Given the description of an element on the screen output the (x, y) to click on. 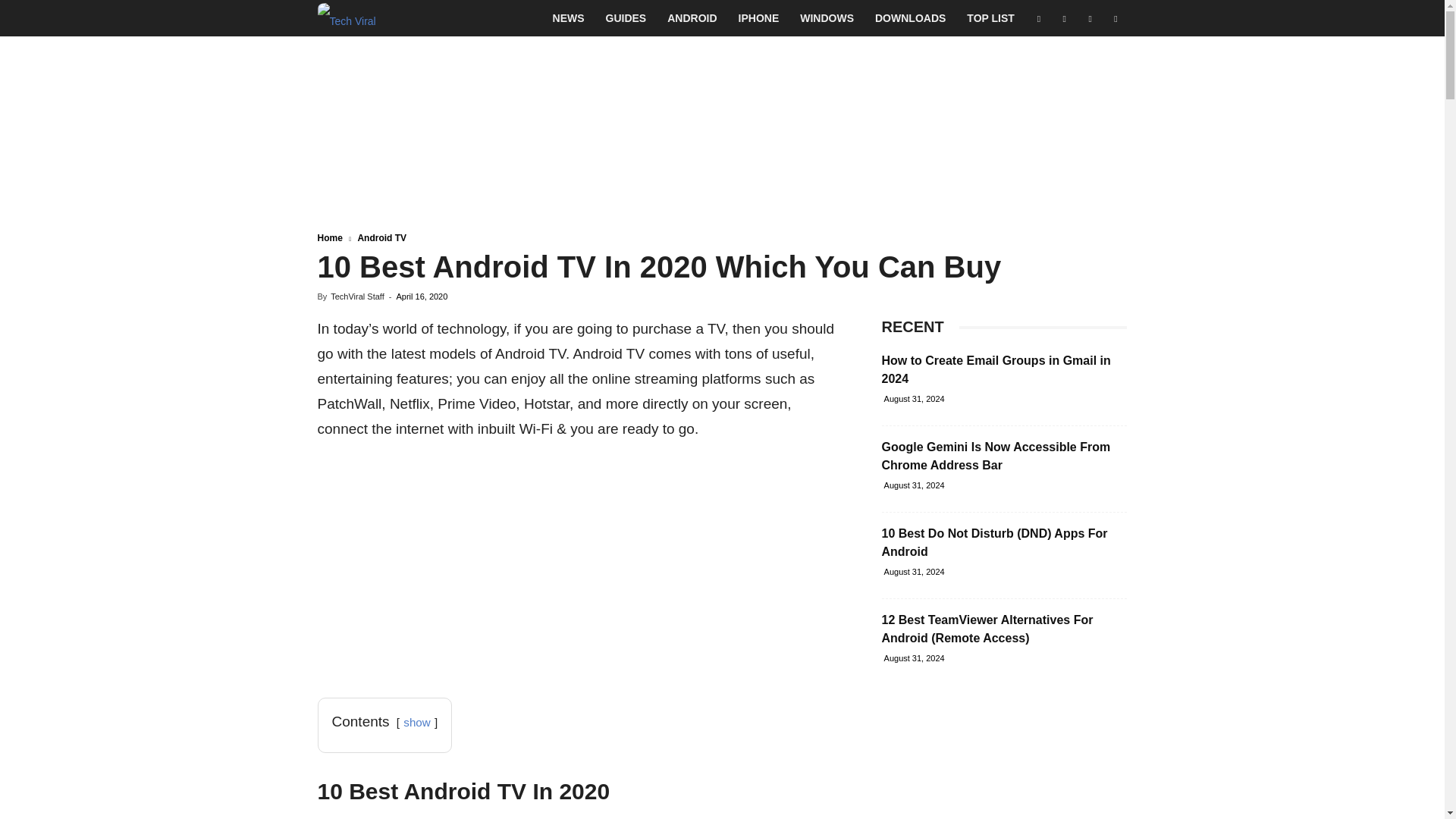
Tech Viral (346, 18)
show (416, 721)
ANDROID (691, 18)
WINDOWS (826, 18)
IPHONE (759, 18)
GUIDES (626, 18)
TechViral (346, 18)
TechViral Staff (357, 296)
TOP LIST (990, 18)
Home (329, 237)
